Given the description of an element on the screen output the (x, y) to click on. 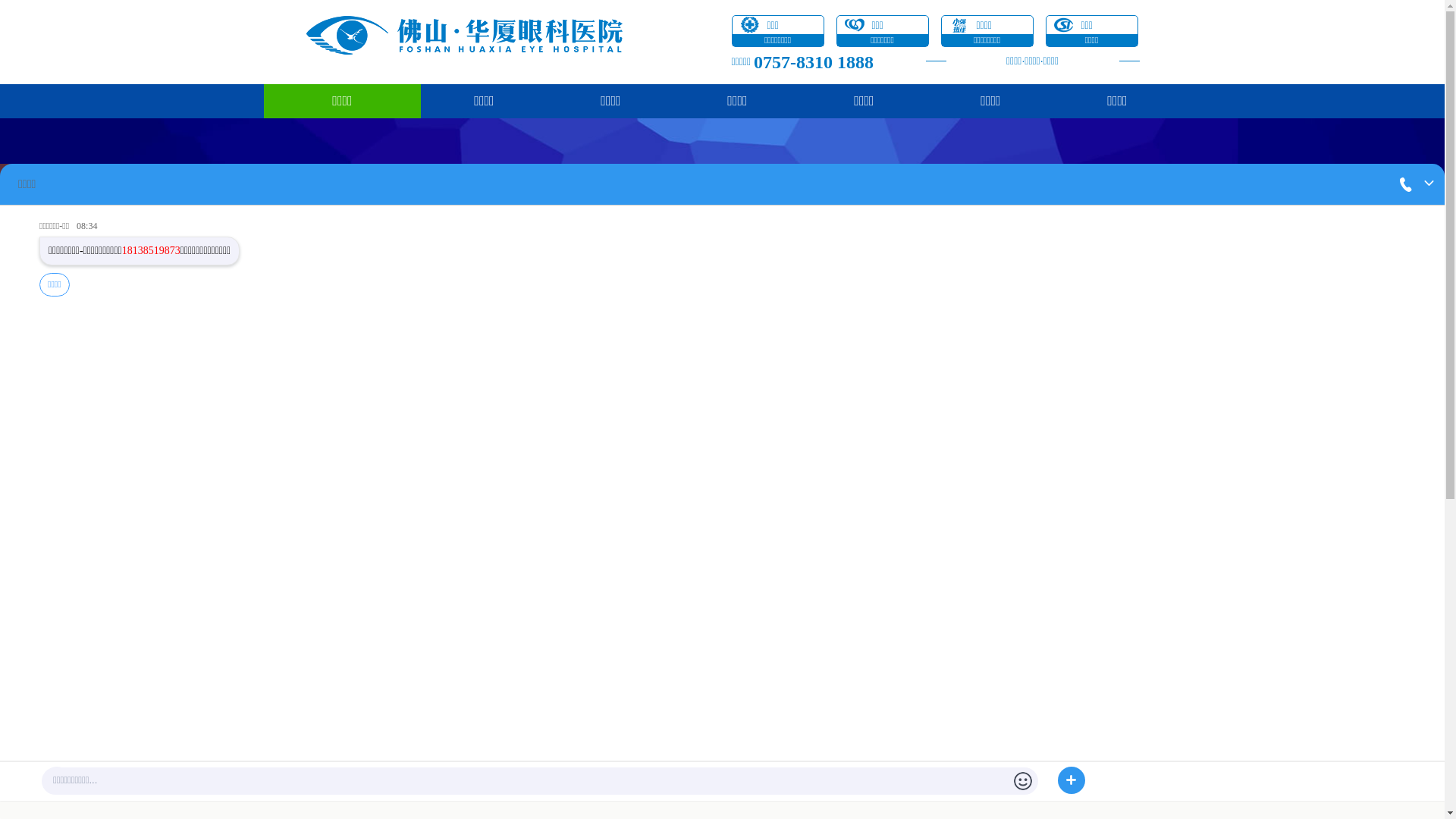
0757-8310 1888 Element type: text (813, 61)
